Given the description of an element on the screen output the (x, y) to click on. 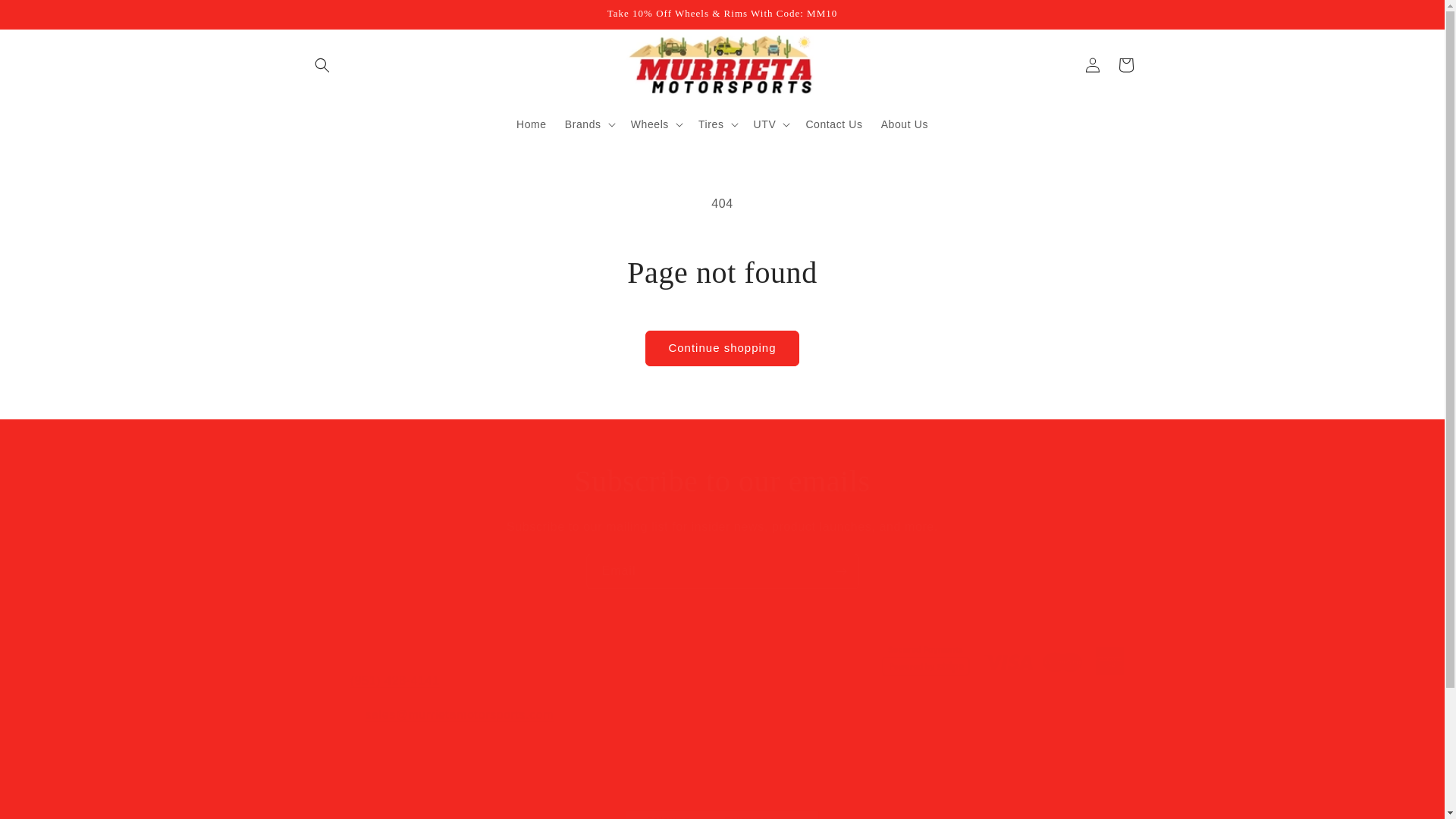
Call 951-428-4141 (394, 680)
Subscribe to our emails (722, 719)
Skip to content (721, 481)
Email (45, 17)
